Given the description of an element on the screen output the (x, y) to click on. 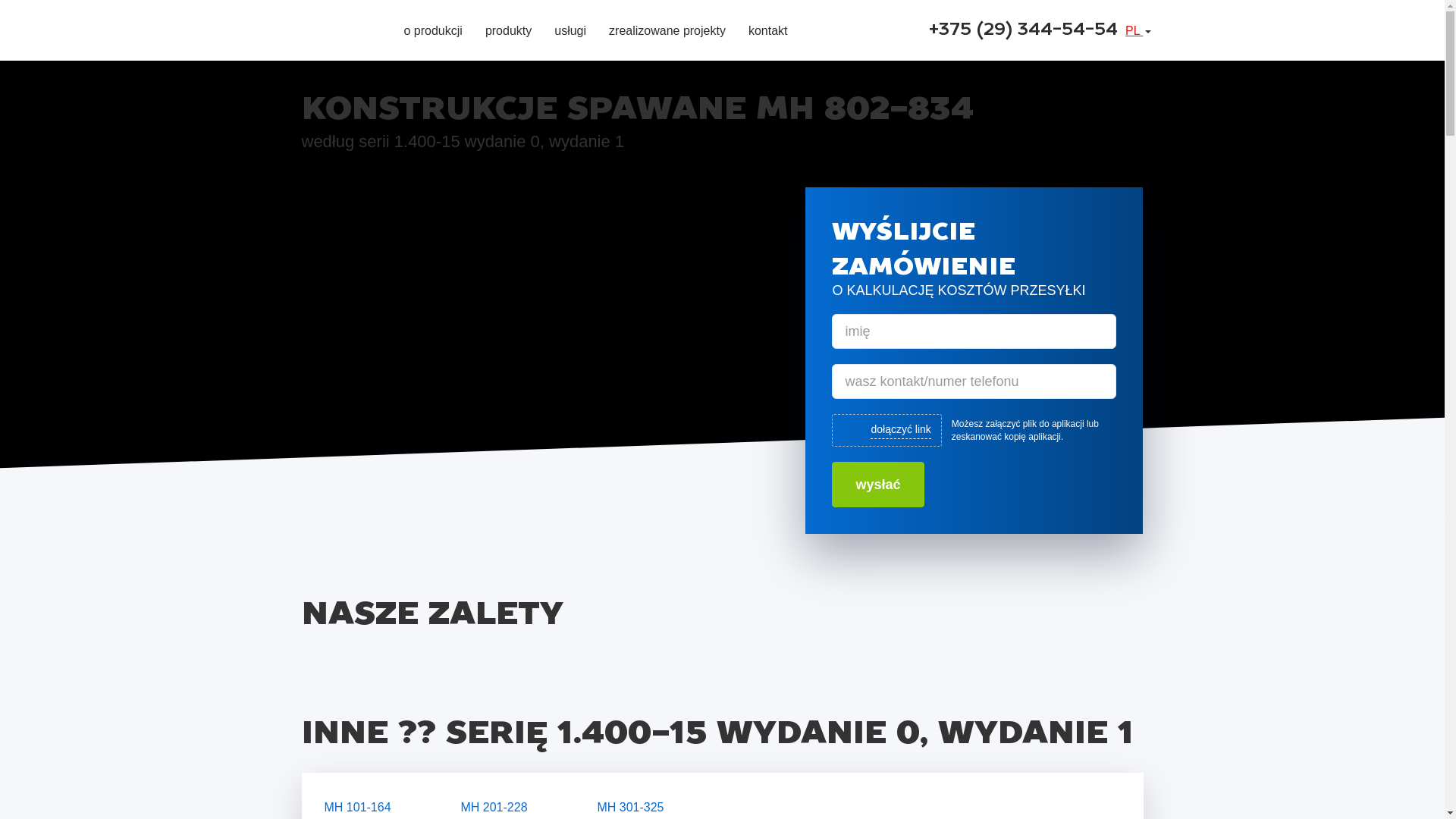
kontakt Element type: text (767, 32)
produkty Element type: text (508, 32)
PL Element type: text (1137, 30)
o produkcji Element type: text (432, 32)
zrealizowane projekty Element type: text (666, 32)
+375 (29) 344-54-54 Element type: text (1022, 29)
